Given the description of an element on the screen output the (x, y) to click on. 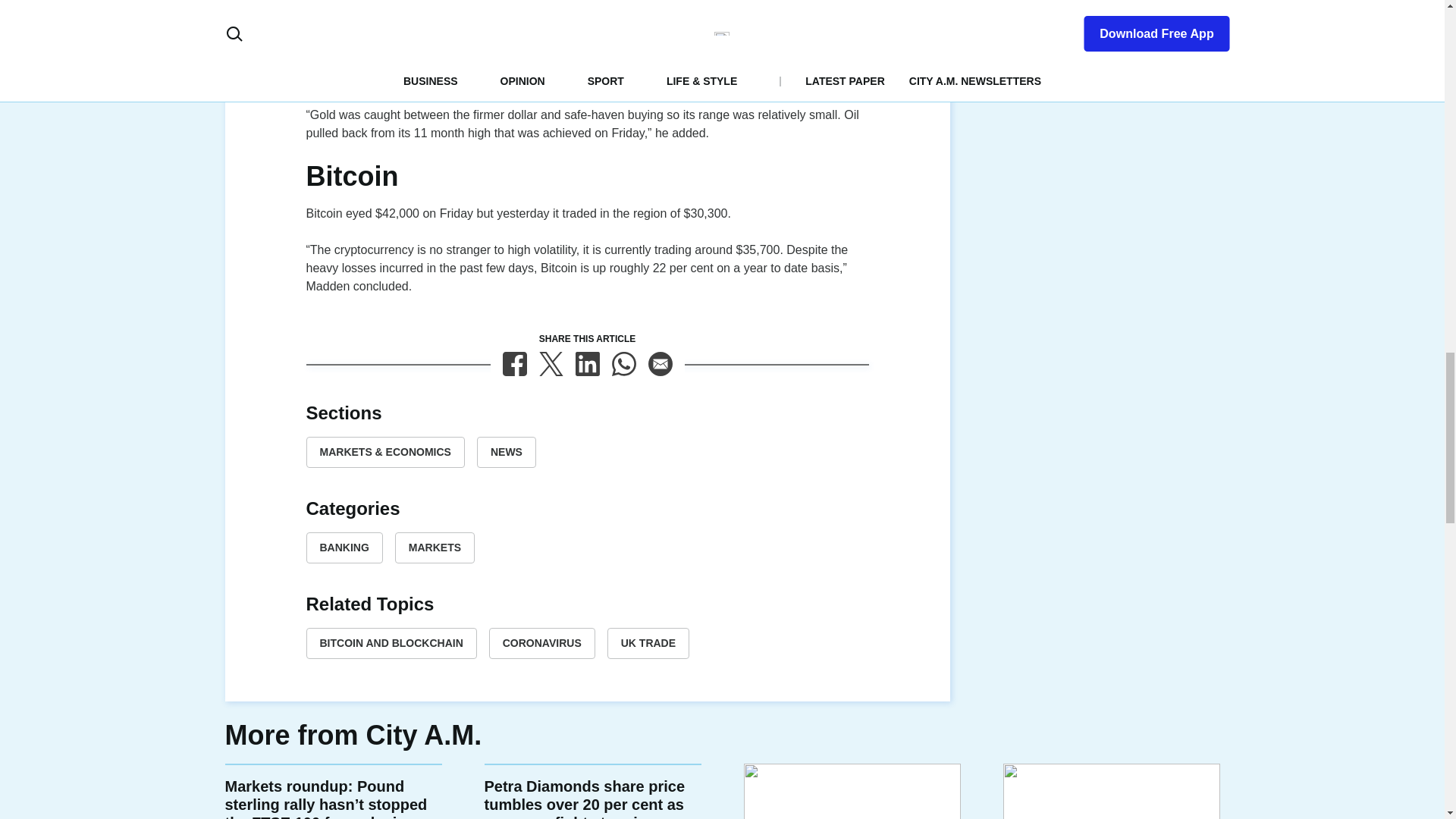
LinkedIn (586, 363)
Email (659, 363)
WhatsApp (622, 363)
Facebook (513, 363)
X (550, 363)
